Given the description of an element on the screen output the (x, y) to click on. 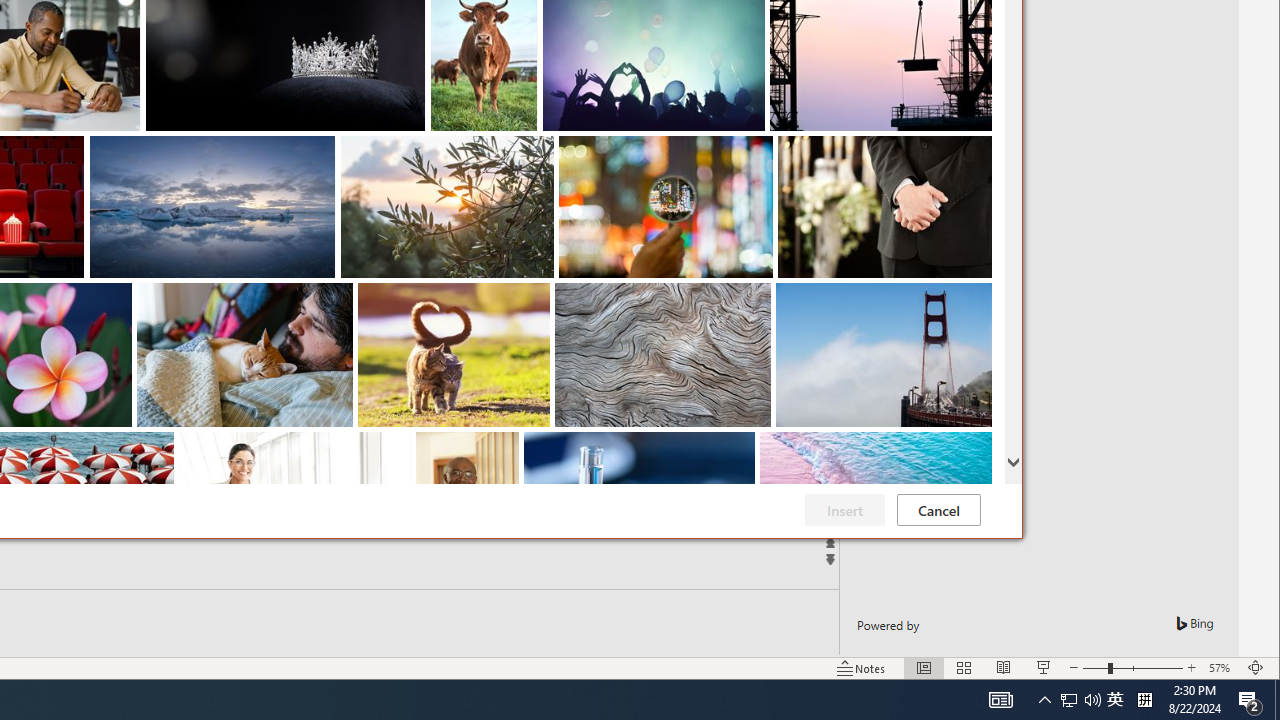
Thumbnail (977, 447)
Action Center, 2 new notifications (1250, 699)
Cancel (938, 509)
